Given the description of an element on the screen output the (x, y) to click on. 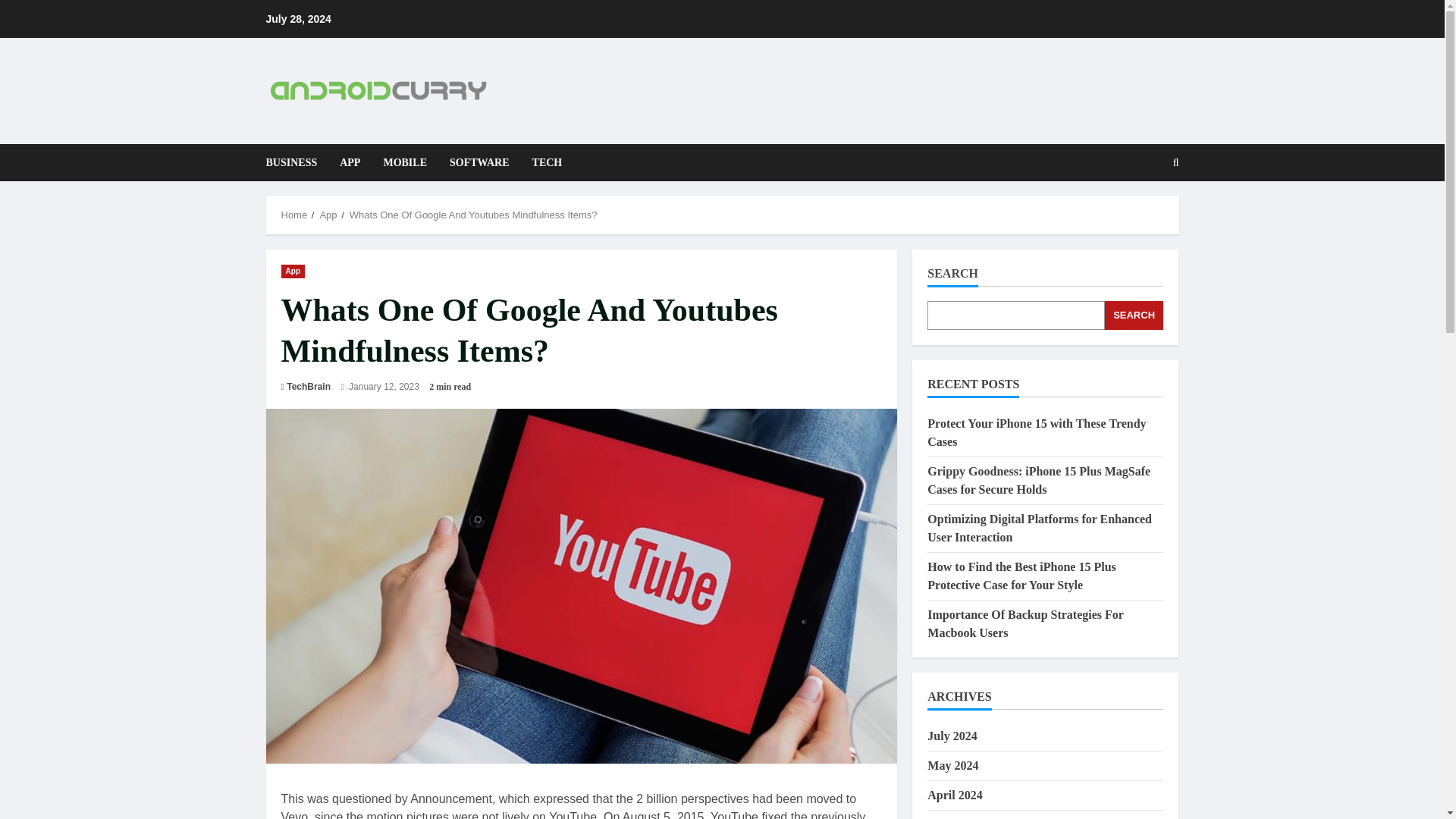
SEARCH (1134, 315)
APP (350, 162)
App (292, 270)
May 2024 (952, 765)
Search (1139, 214)
Protect Your iPhone 15 with These Trendy Cases (1036, 431)
Importance Of Backup Strategies For Macbook Users (1024, 623)
Whats One Of Google And Youtubes Mindfulness Items? (472, 214)
July 2024 (951, 735)
April 2024 (954, 794)
TECH (541, 162)
Home (294, 214)
BUSINESS (296, 162)
